Given the description of an element on the screen output the (x, y) to click on. 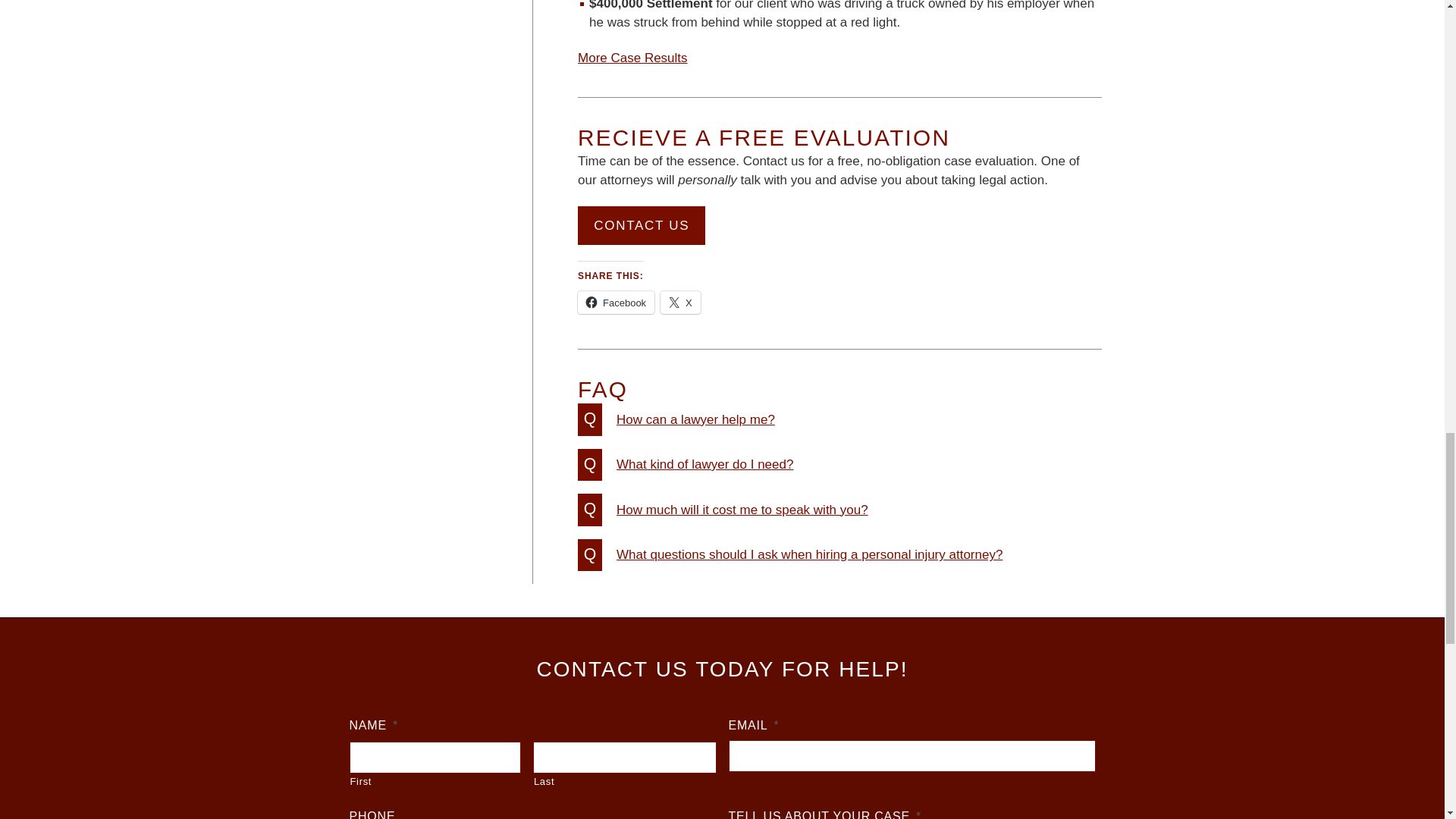
Click to share on X (680, 302)
Click to share on Facebook (615, 302)
Contact (641, 225)
